Given the description of an element on the screen output the (x, y) to click on. 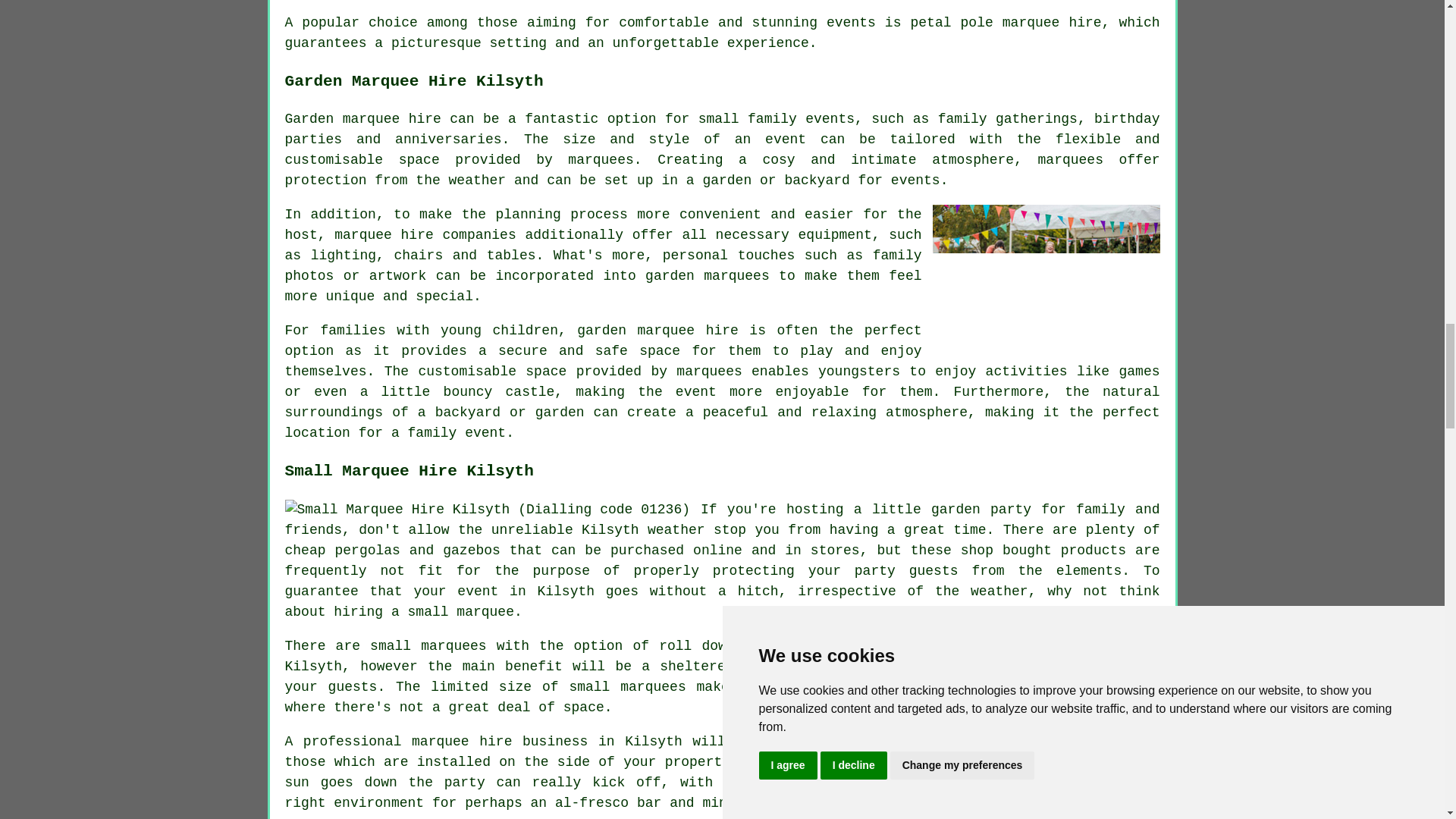
Garden Marquee Hire Kilsyth (1046, 278)
